Given the description of an element on the screen output the (x, y) to click on. 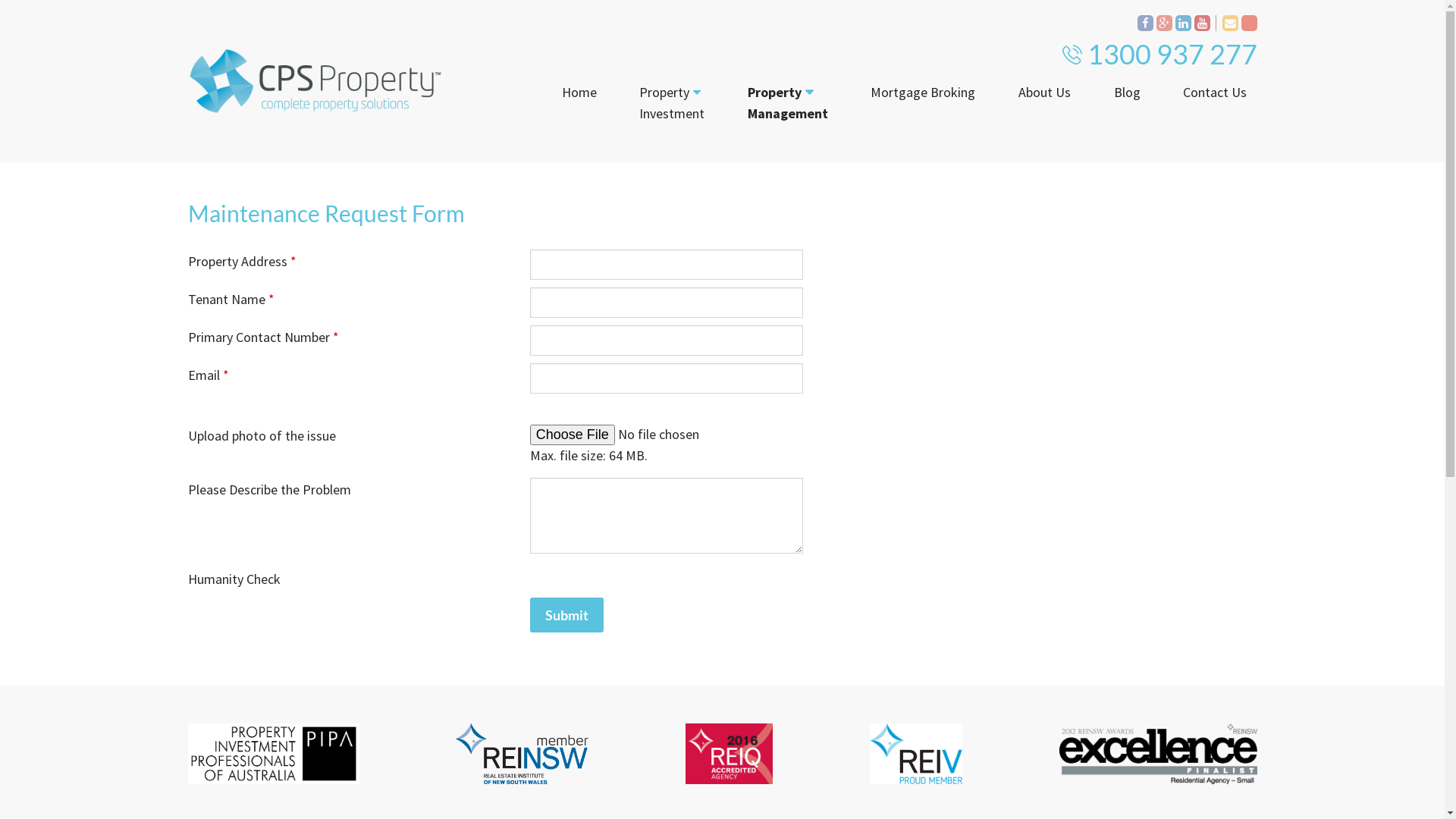
Mortgage Broking Element type: text (922, 92)
About Us Element type: text (1044, 92)
facebook Element type: hover (1145, 23)
youtube Element type: hover (1201, 23)
Email Element type: hover (1230, 23)
Property
Investment Element type: text (671, 102)
Submit Element type: text (566, 614)
Home Element type: text (579, 92)
Blog Element type: text (1127, 92)
1300 937 277 Element type: text (1172, 53)
google-plus Element type: hover (1163, 23)
Contact Us Element type: text (1214, 92)
linkedin Element type: hover (1183, 23)
Property
Management Element type: text (787, 102)
